Given the description of an element on the screen output the (x, y) to click on. 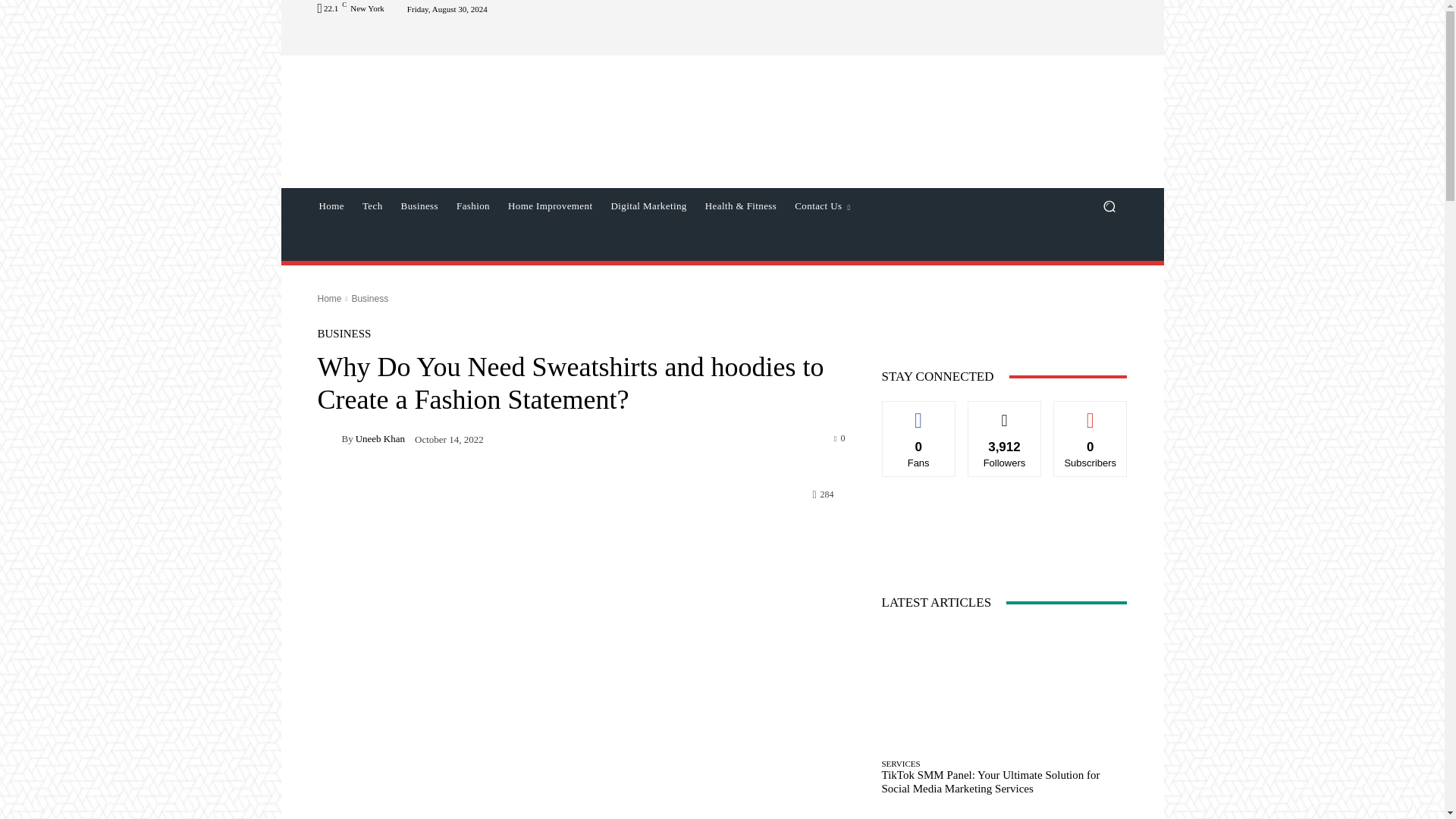
Uneeb Khan (328, 437)
Digital Marketing (648, 206)
Home Improvement (550, 206)
Contact Us (822, 206)
View all posts in Business (369, 298)
Business (418, 206)
Home (330, 206)
Fashion (472, 206)
Tech (372, 206)
Why Do You Need Sweatshirts to Create a Fashion Statement? (580, 715)
